Given the description of an element on the screen output the (x, y) to click on. 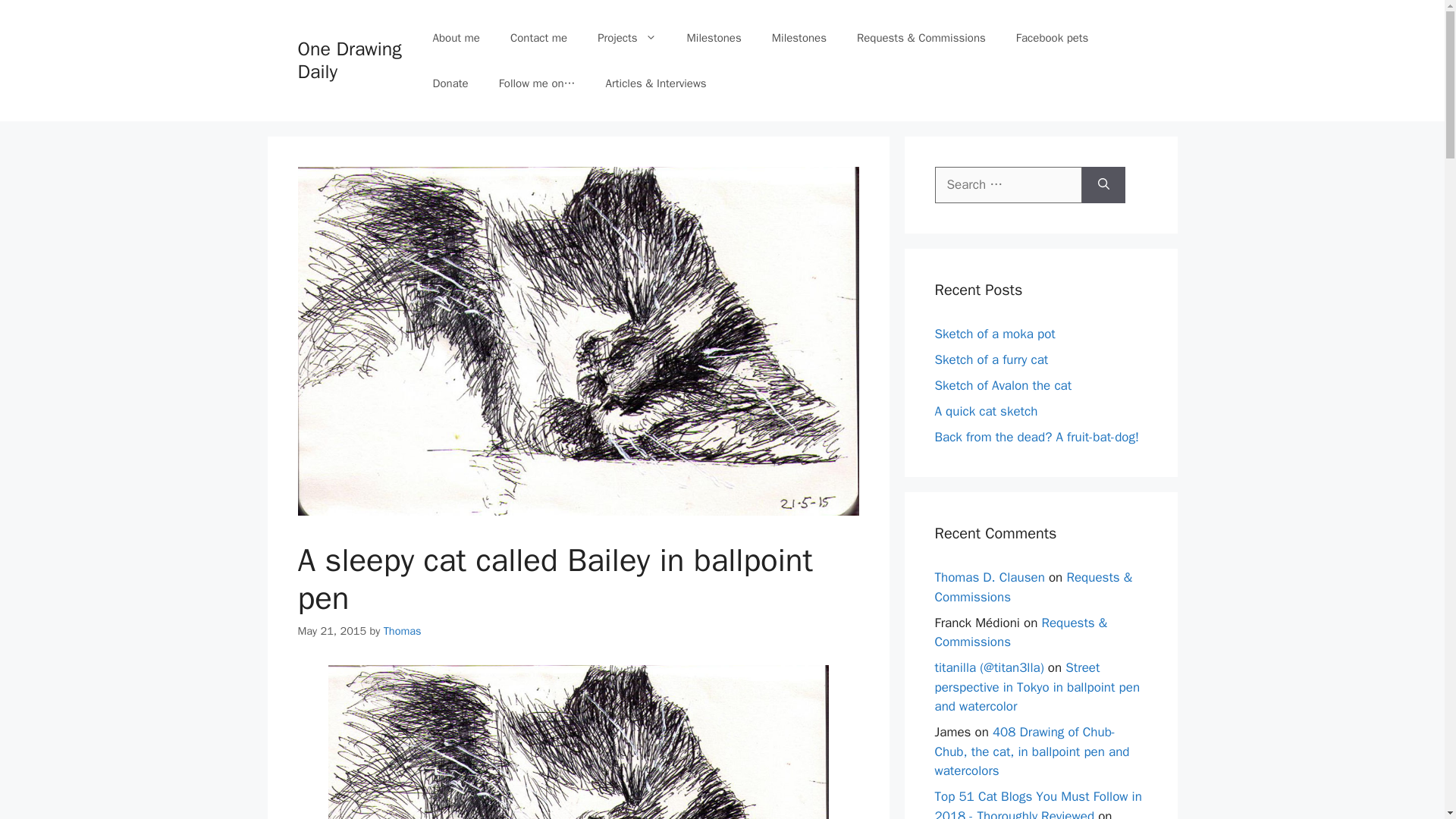
Contact me (538, 37)
Milestones (714, 37)
View all posts by Thomas (403, 631)
About me (456, 37)
Thomas (403, 631)
One Drawing Daily (349, 59)
Milestones (799, 37)
Facebook pets (1052, 37)
Donate (450, 83)
Projects (626, 37)
